Given the description of an element on the screen output the (x, y) to click on. 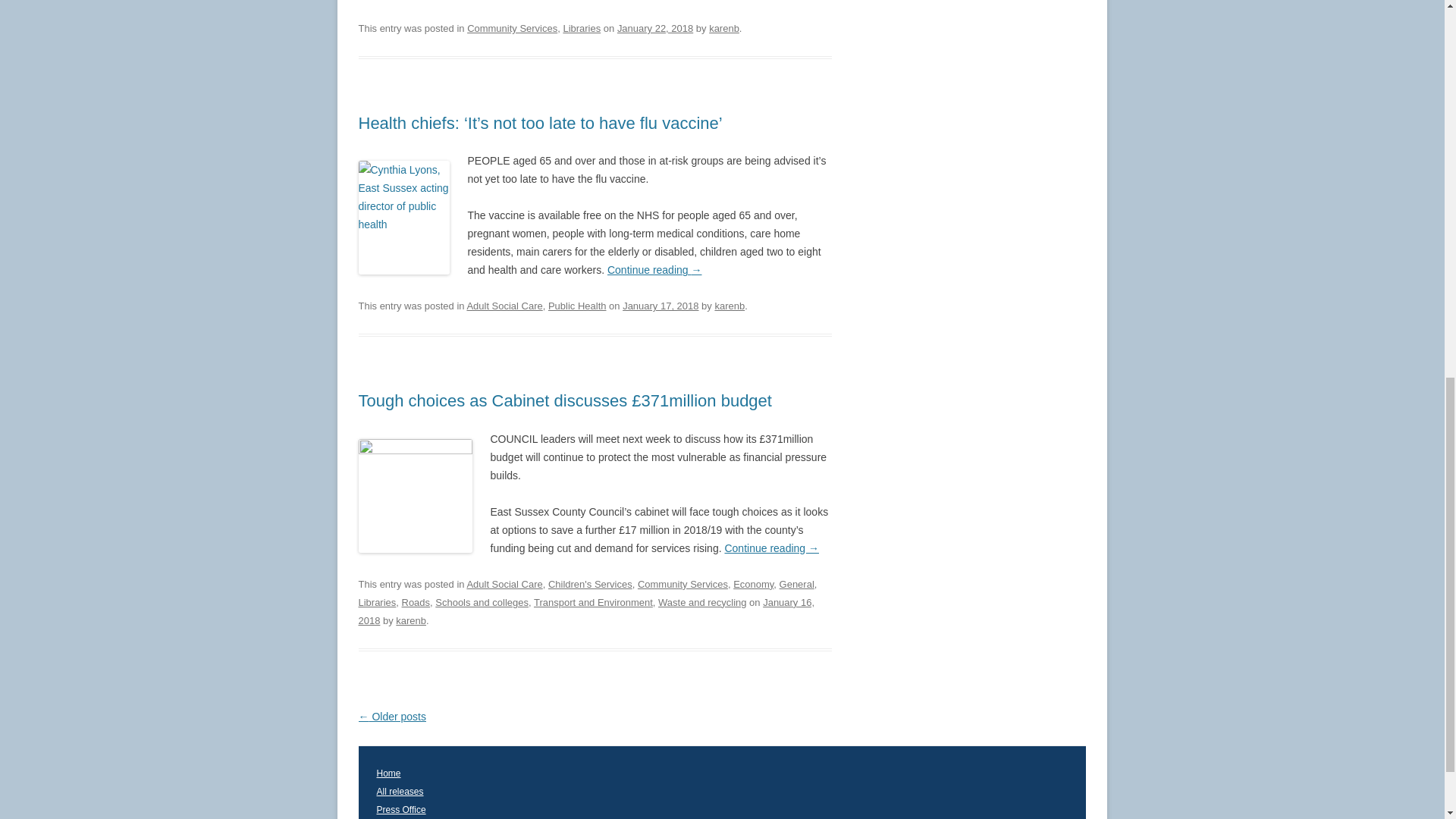
Community Services (682, 583)
Adult Social Care (503, 583)
View all posts by karenb (724, 28)
January 17, 2018 (660, 306)
January 22, 2018 (655, 28)
View all posts by karenb (411, 620)
karenb (724, 28)
Libraries (580, 28)
12:29 pm (660, 306)
View all posts by karenb (729, 306)
